Given the description of an element on the screen output the (x, y) to click on. 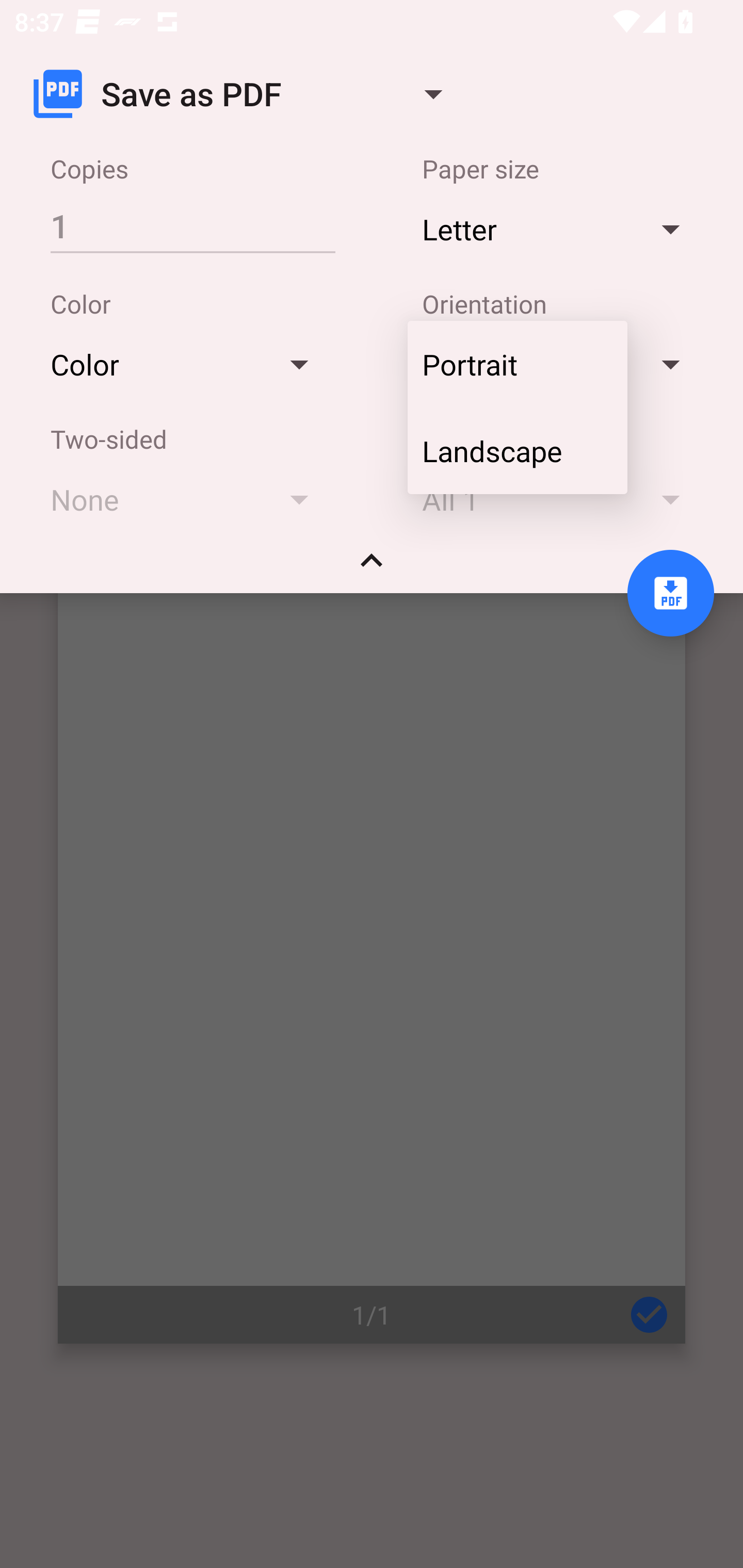
Portrait (517, 364)
Landscape (517, 450)
